Given the description of an element on the screen output the (x, y) to click on. 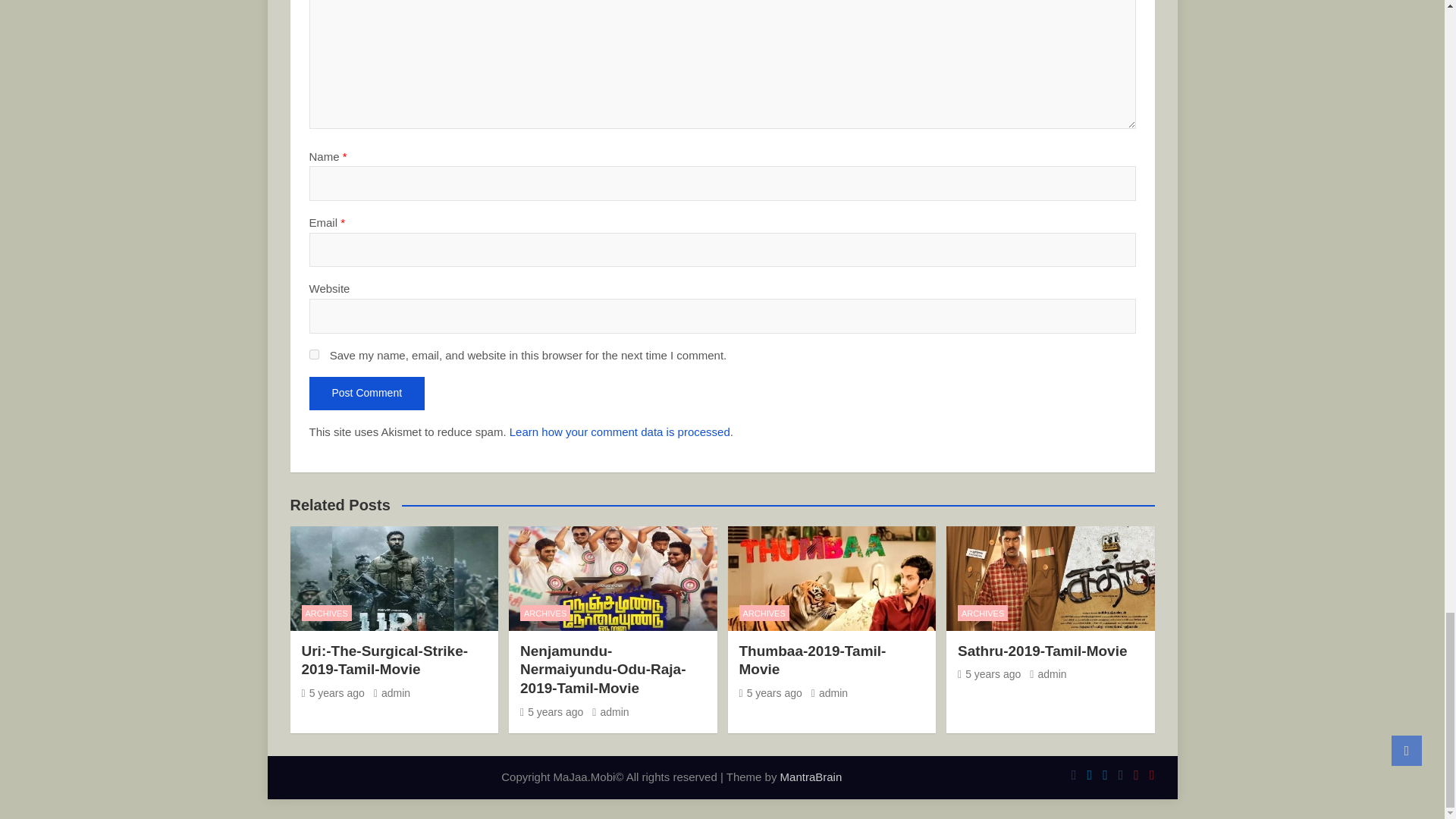
yes (313, 354)
Nenjamundu-Nermaiyundu-Odu-Raja-2019-Tamil-Movie (551, 711)
Thumbaa-2019-Tamil-Movie (770, 693)
MantraBrain (811, 776)
Post Comment (366, 393)
Uri:-The-Surgical-Strike-2019-Tamil-Movie (333, 693)
Sathru-2019-Tamil-Movie (989, 674)
